Given the description of an element on the screen output the (x, y) to click on. 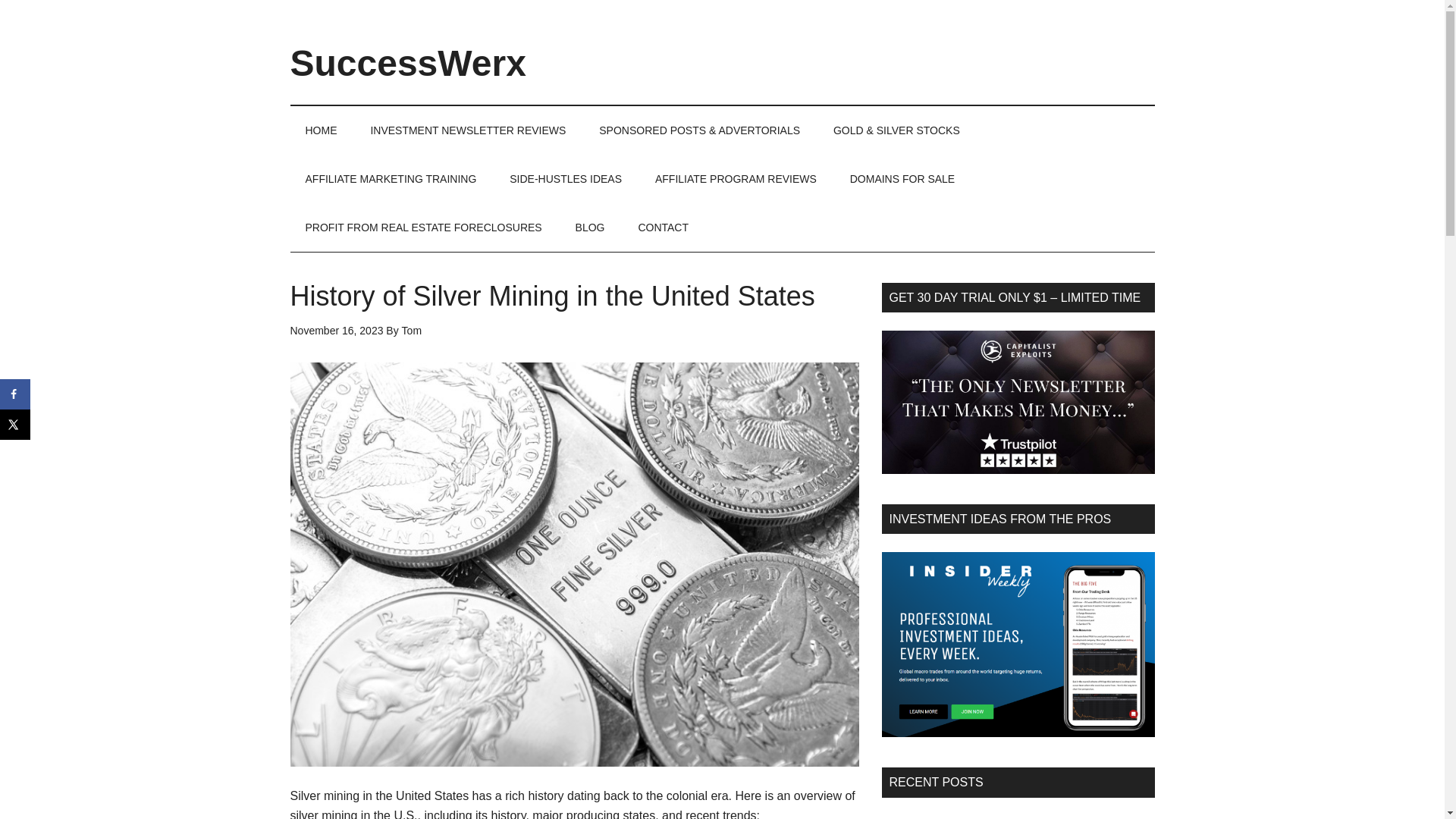
INVESTMENT NEWSLETTER REVIEWS (467, 130)
BLOG (590, 227)
SuccessWerx (407, 63)
SIDE-HUSTLES IDEAS (566, 178)
Tom (411, 330)
Share on X (15, 424)
PROFIT FROM REAL ESTATE FORECLOSURES (422, 227)
DOMAINS FOR SALE (901, 178)
Investment Ideas from the Pros (1017, 644)
AFFILIATE PROGRAM REVIEWS (735, 178)
HOME (320, 130)
CONTACT (663, 227)
AFFILIATE MARKETING TRAINING (390, 178)
Share on Facebook (15, 394)
